Given the description of an element on the screen output the (x, y) to click on. 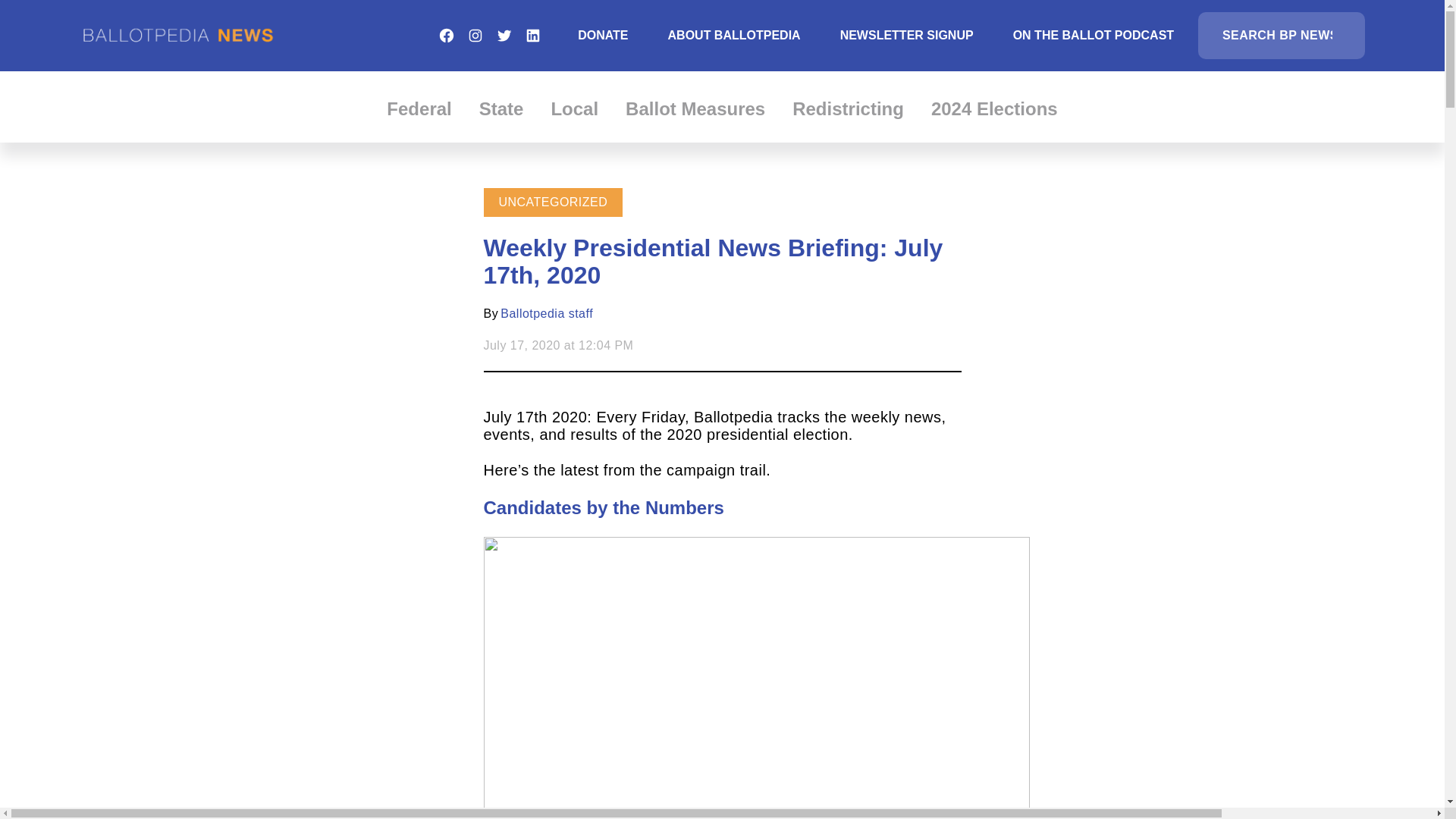
UNCATEGORIZED (553, 201)
ABOUT BALLOTPEDIA (734, 35)
DONATE (602, 35)
Federal (419, 108)
NEWSLETTER SIGNUP (906, 35)
Facebook (446, 35)
LinkedIn (532, 35)
Twitter (504, 35)
Instagram (475, 35)
Local (574, 108)
